Given the description of an element on the screen output the (x, y) to click on. 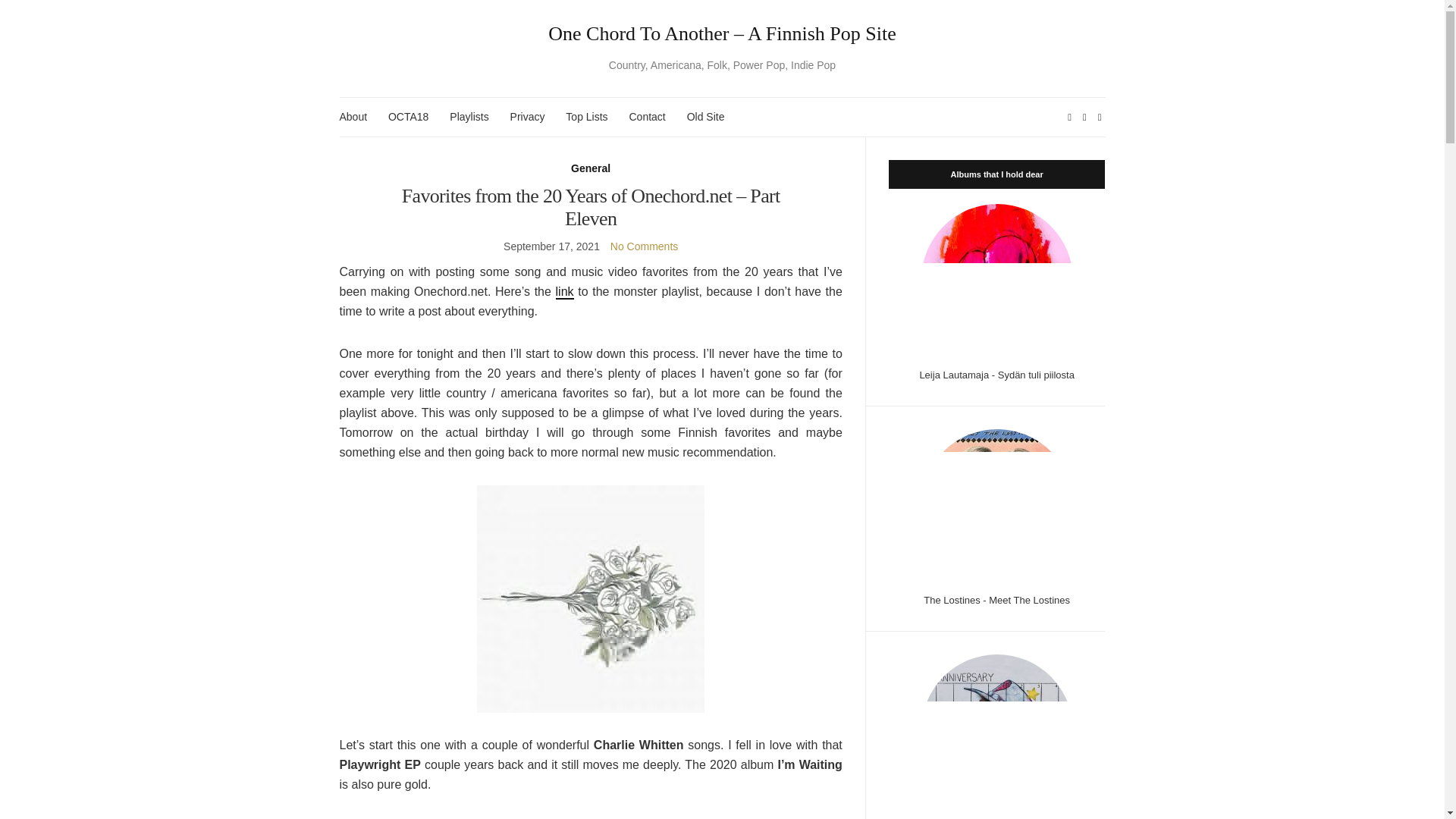
OCTA18 (408, 117)
Privacy (527, 117)
About (353, 117)
General (590, 168)
Top Lists (586, 117)
Playlists (468, 117)
Contact (646, 117)
Old Site (706, 117)
No Comments (644, 246)
link (564, 292)
